Given the description of an element on the screen output the (x, y) to click on. 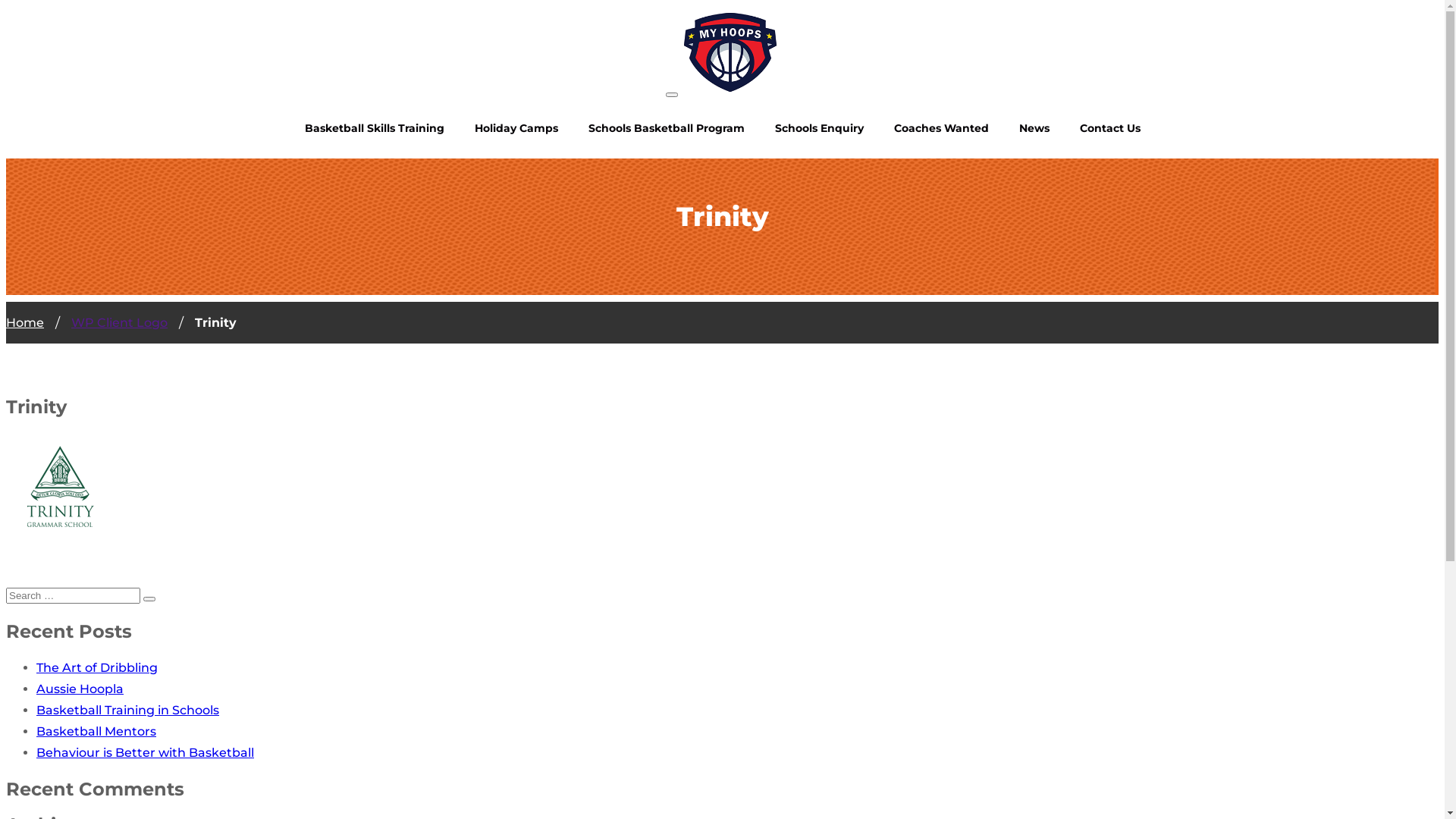
Search Element type: text (149, 598)
Home Element type: text (24, 322)
Behaviour is Better with Basketball Element type: text (145, 752)
Holiday Camps Element type: text (516, 127)
Aussie Hoopla Element type: text (79, 688)
Basketball Skills Training Element type: text (374, 127)
News Element type: text (1034, 127)
Schools Enquiry Element type: text (818, 127)
Basketball Mentors Element type: text (96, 731)
WP Client Logo Element type: text (119, 322)
Schools Basketball Program Element type: text (666, 127)
Toggle navigation Element type: text (671, 94)
Contact Us Element type: text (1109, 127)
Coaches Wanted Element type: text (940, 127)
Basketball Training in Schools Element type: text (127, 709)
The Art of Dribbling Element type: text (96, 667)
